Given the description of an element on the screen output the (x, y) to click on. 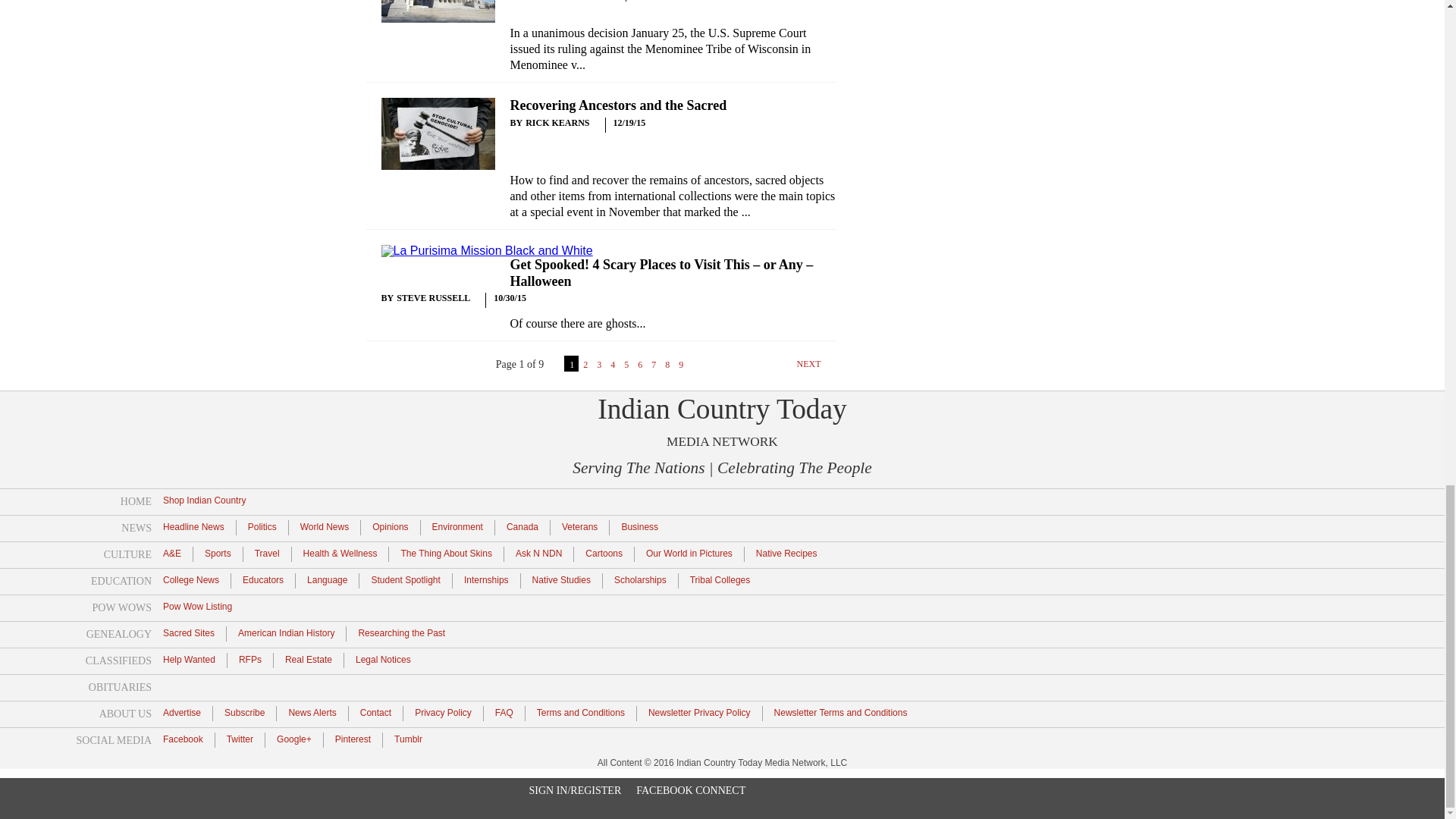
Go to last page (720, 368)
Terms and Conditions (580, 712)
Privacy Policy (442, 712)
La Purisima Mission Black and White (486, 250)
